Given the description of an element on the screen output the (x, y) to click on. 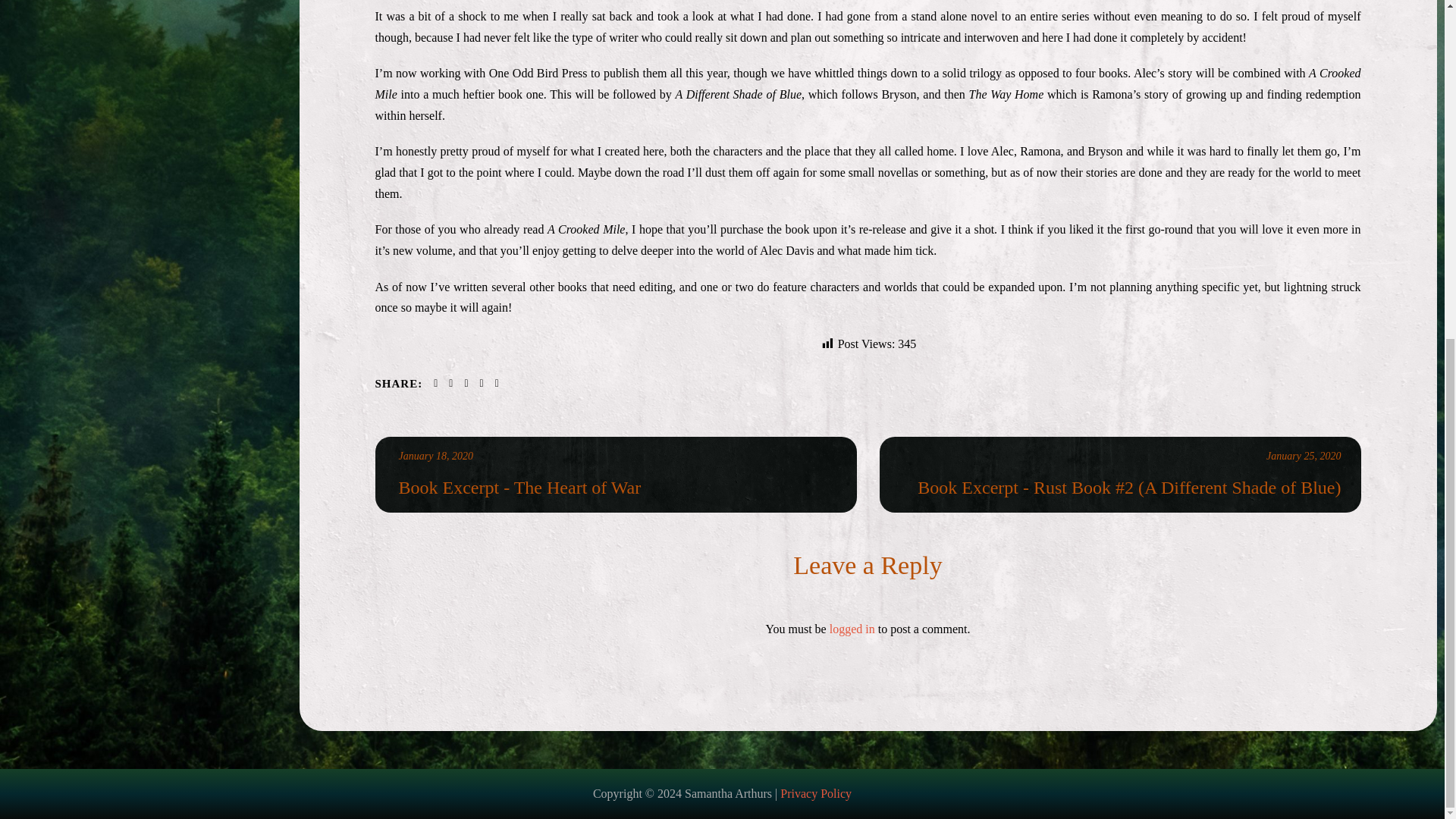
January 18, 2020 (435, 455)
Book Excerpt - The Heart of War (435, 455)
logged in (852, 628)
Book Excerpt - The Heart of War (617, 487)
January 25, 2020 (1303, 455)
Book Excerpt - The Heart of War (617, 487)
Privacy Policy (815, 793)
